Given the description of an element on the screen output the (x, y) to click on. 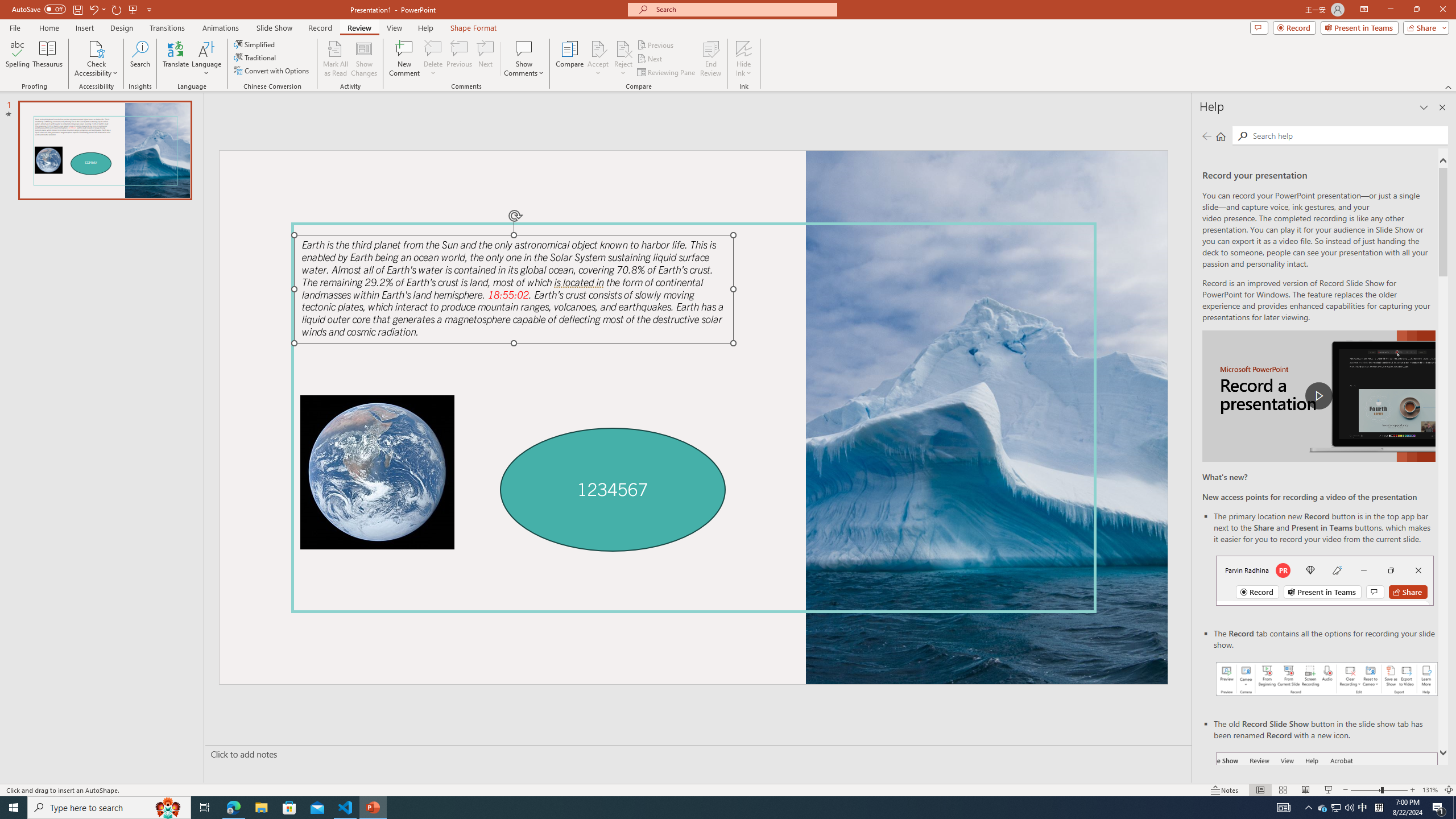
Delete (432, 48)
Spelling... (17, 58)
Language (206, 58)
Accept Change (598, 48)
play Record a Presentation (1318, 395)
Hide Ink (743, 58)
Show Comments (524, 48)
